Given the description of an element on the screen output the (x, y) to click on. 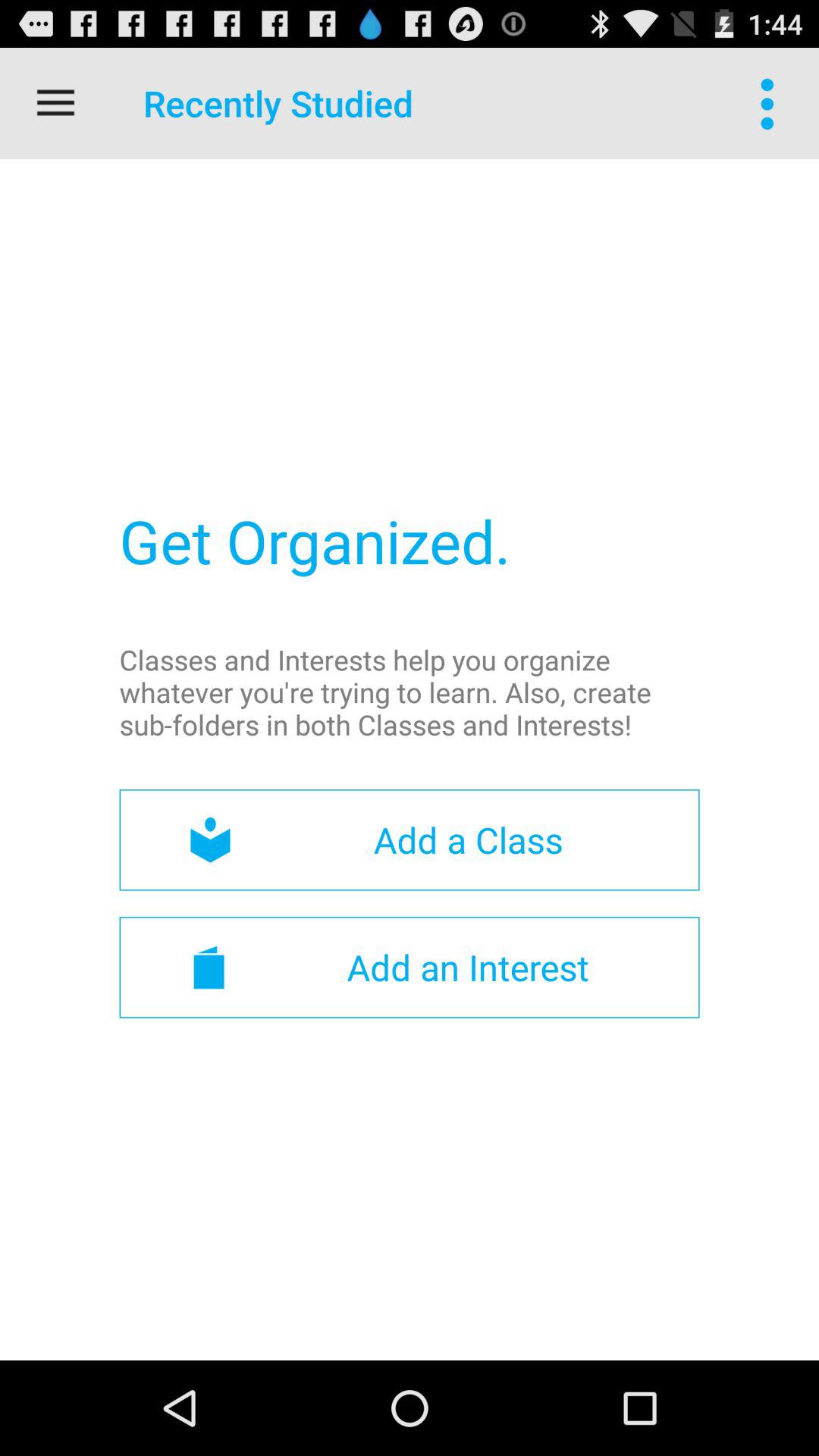
tap the icon to the right of recently studied icon (771, 103)
